Given the description of an element on the screen output the (x, y) to click on. 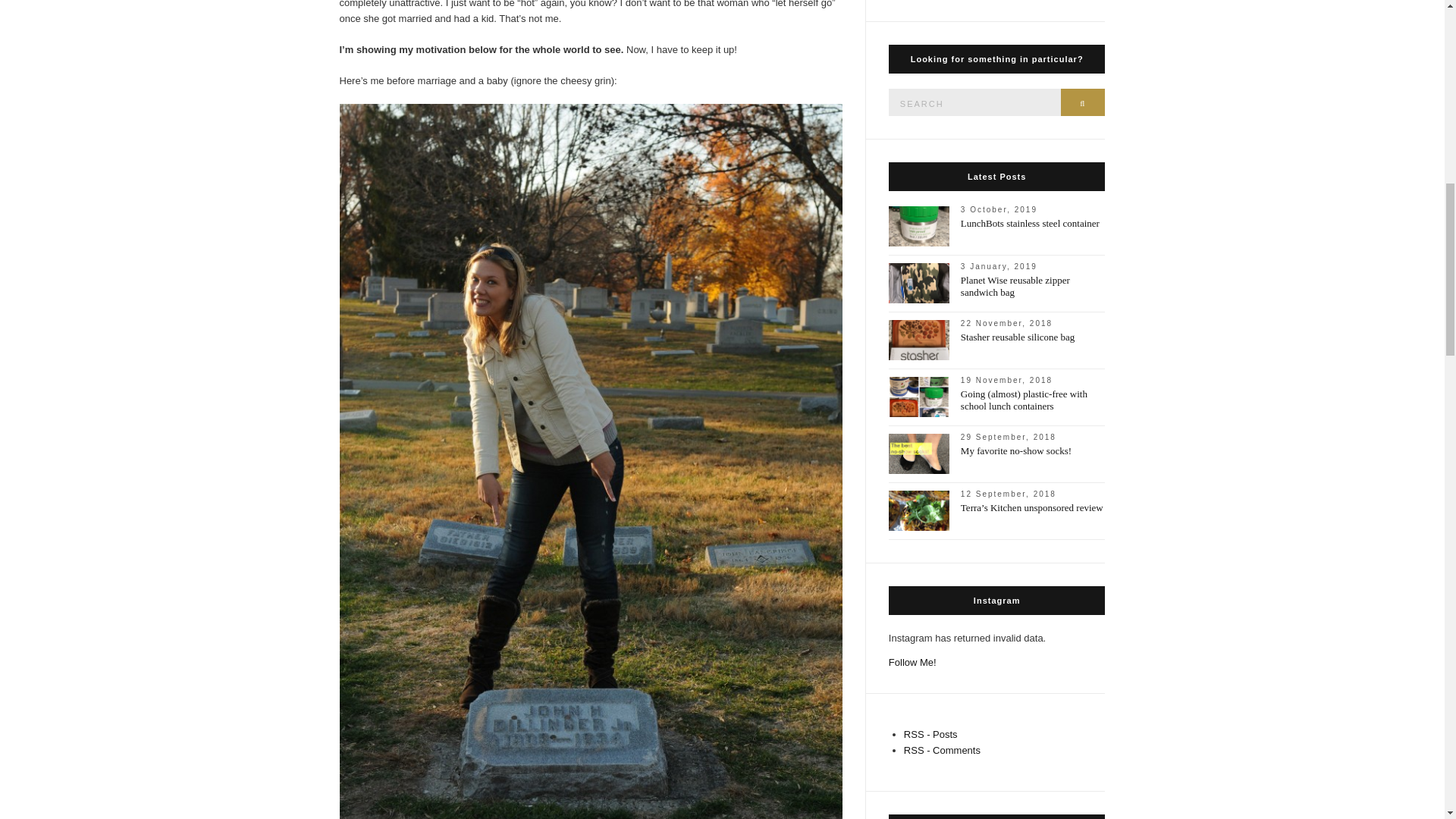
Subscribe to Comments (941, 749)
Subscribe to Posts (931, 734)
